Given the description of an element on the screen output the (x, y) to click on. 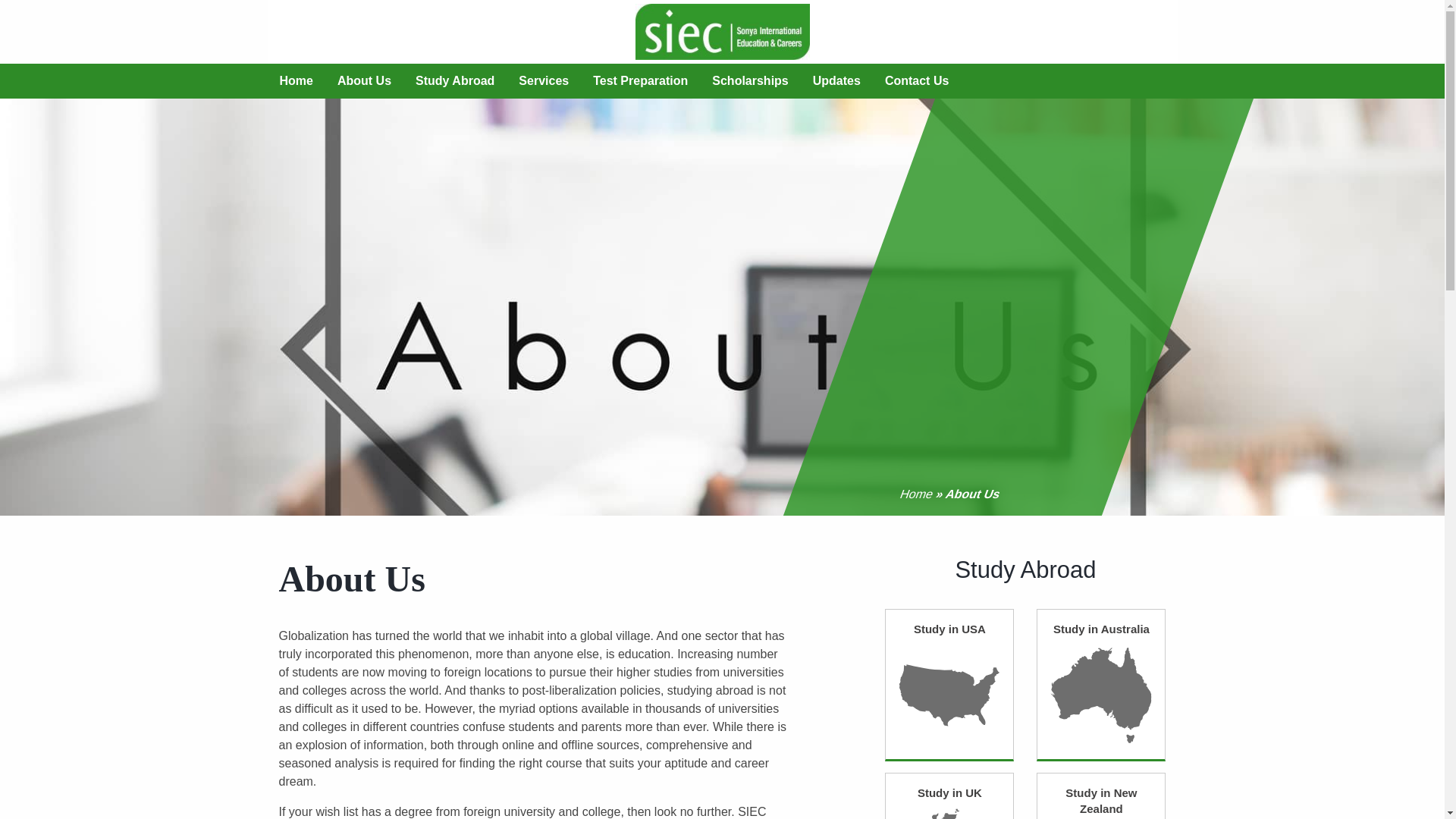
Contact Us (916, 80)
Home (914, 493)
Updates (836, 80)
Test Preparation (640, 80)
Home (295, 80)
Study Abroad (454, 80)
Services (543, 80)
Scholarships (749, 80)
About Us (363, 80)
